Given the description of an element on the screen output the (x, y) to click on. 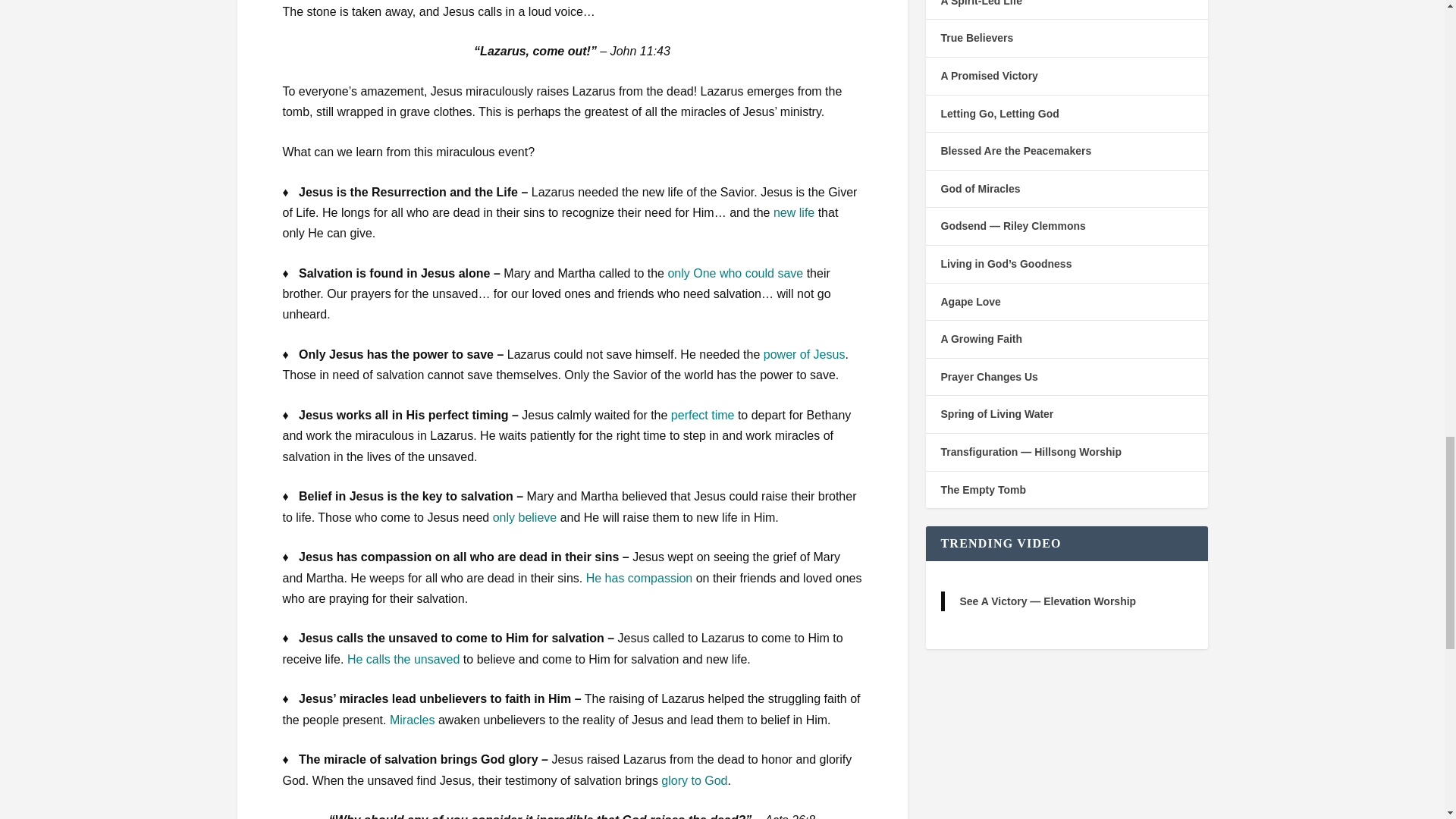
He calls the unsaved (403, 658)
only believe (525, 517)
He has compassion (639, 577)
power of Jesus (803, 354)
new life (793, 212)
glory to God (693, 780)
Miracles (412, 719)
perfect time (703, 414)
only One who could save (734, 273)
